Given the description of an element on the screen output the (x, y) to click on. 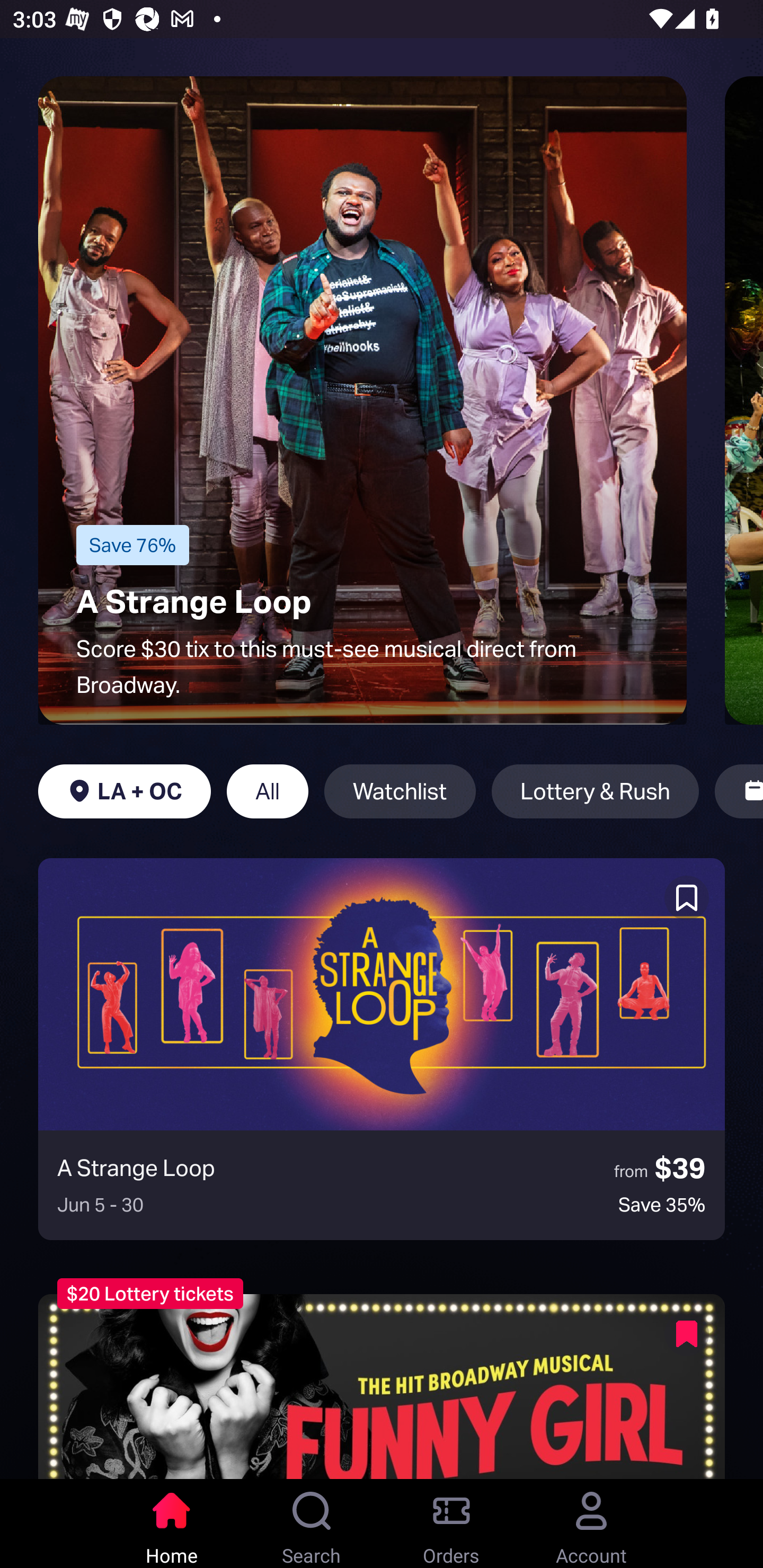
LA + OC (124, 791)
All (267, 791)
Watchlist (400, 791)
Lottery & Rush (594, 791)
A Strange Loop from $39 Jun 5 - 30 Save 35% (381, 1048)
Search (311, 1523)
Orders (451, 1523)
Account (591, 1523)
